Given the description of an element on the screen output the (x, y) to click on. 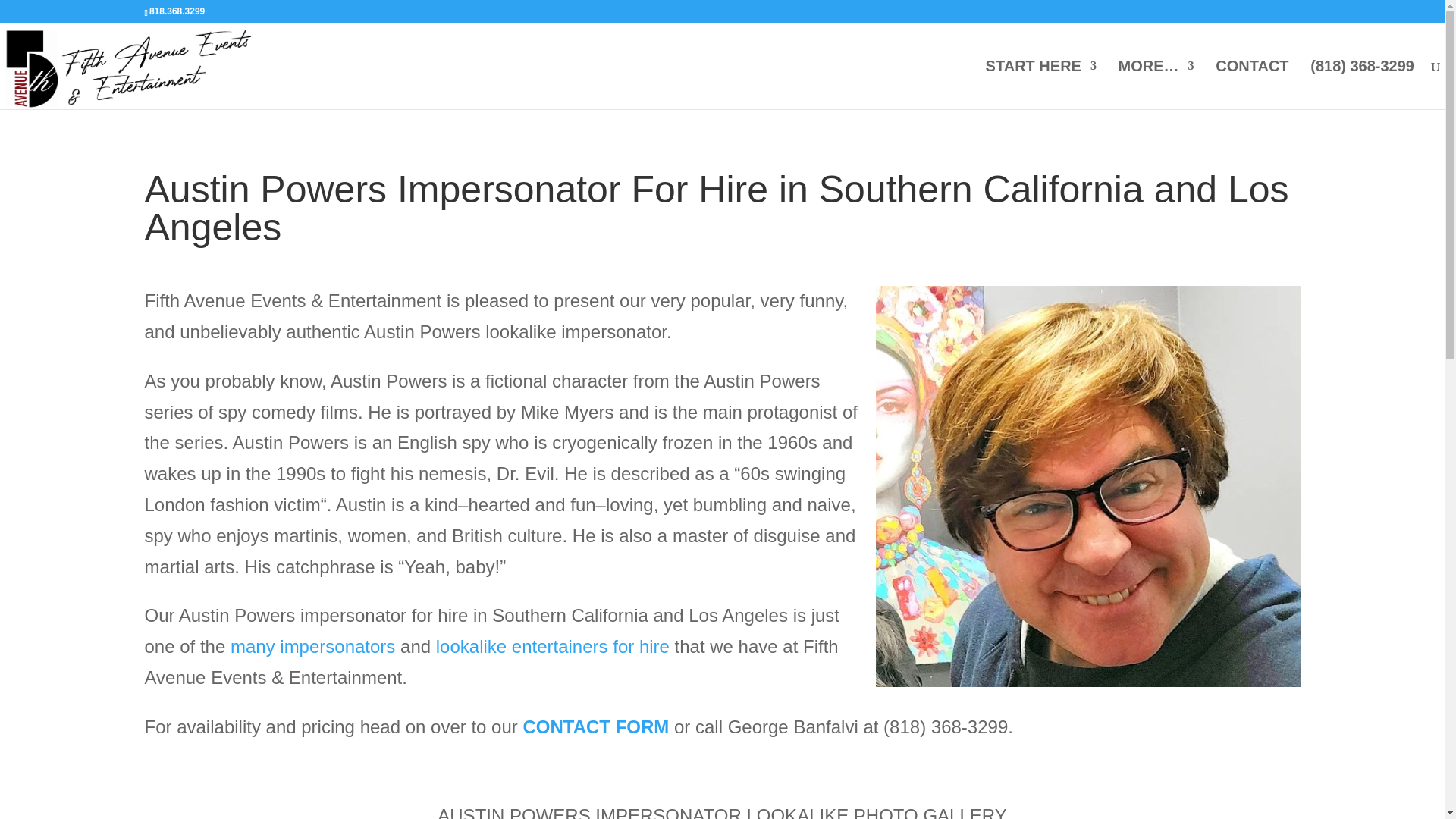
many impersonators (312, 646)
CONTACT (1251, 84)
START HERE (1040, 84)
CONTACT FORM (595, 726)
lookalike entertainers for hire (552, 646)
